Given the description of an element on the screen output the (x, y) to click on. 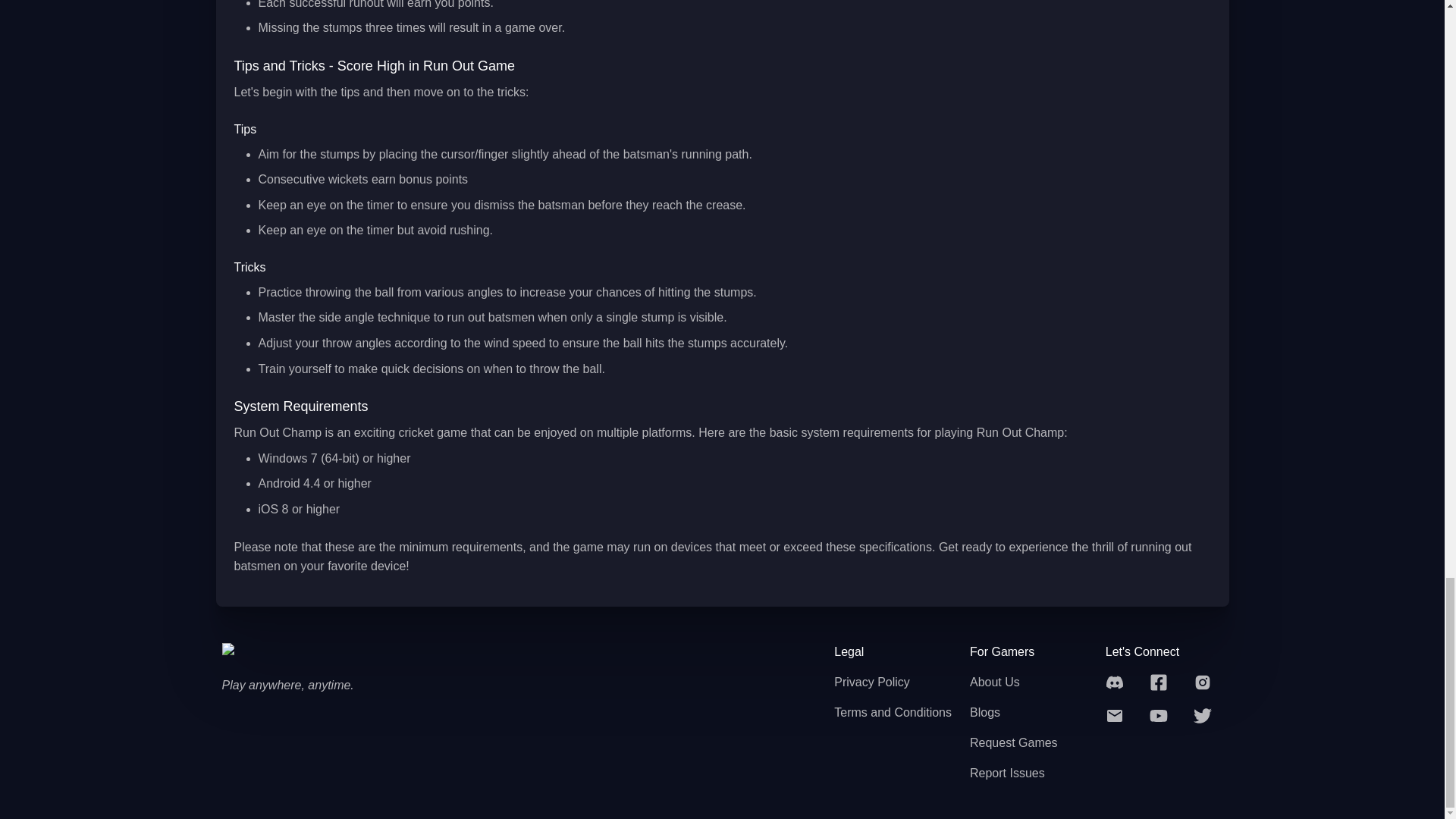
EpicPlay (283, 653)
